Given the description of an element on the screen output the (x, y) to click on. 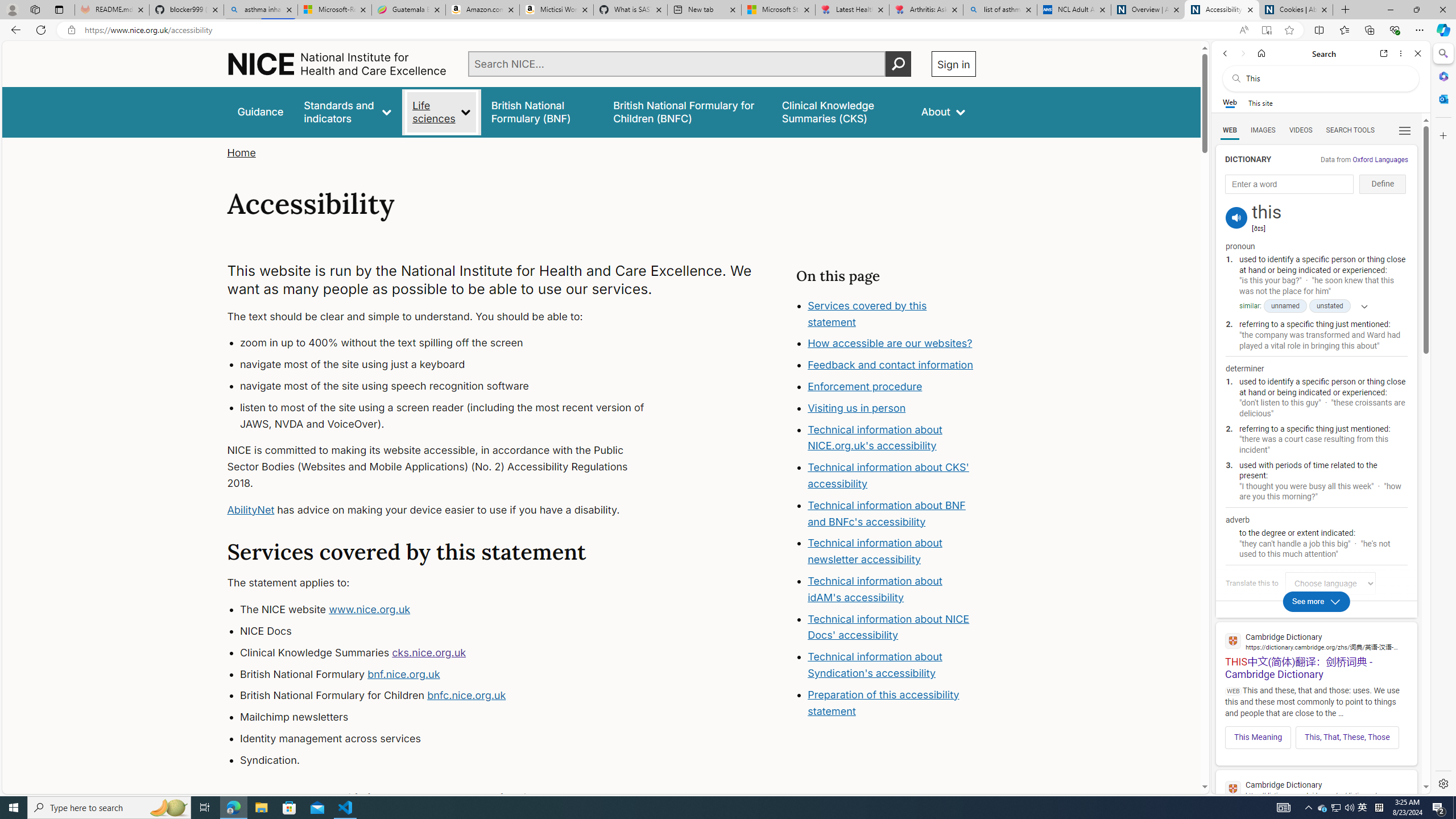
Feedback and contact information (891, 364)
pronounce (1236, 217)
bnfc.nice.org.uk (466, 695)
This, That, These, Those (1347, 737)
Preparation of this accessibility statement (883, 702)
